Given the description of an element on the screen output the (x, y) to click on. 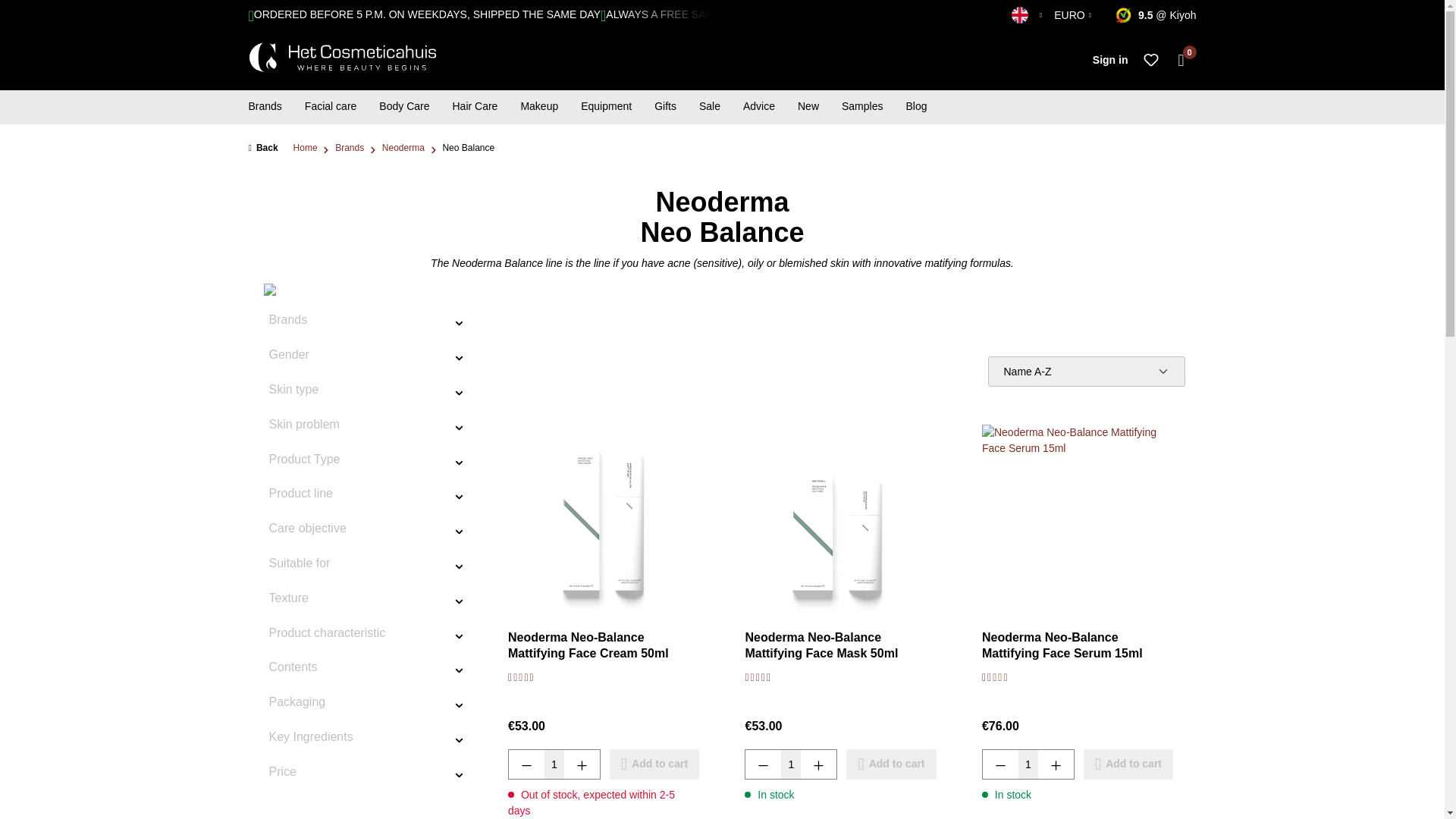
Sign in (1109, 60)
Sign in (1109, 60)
Brands (265, 108)
Facial care (330, 108)
Go to homepage (343, 56)
Wishlist (1150, 60)
Shopping cart (1181, 60)
0 (1181, 60)
Brands (265, 108)
EURO (1072, 15)
